Given the description of an element on the screen output the (x, y) to click on. 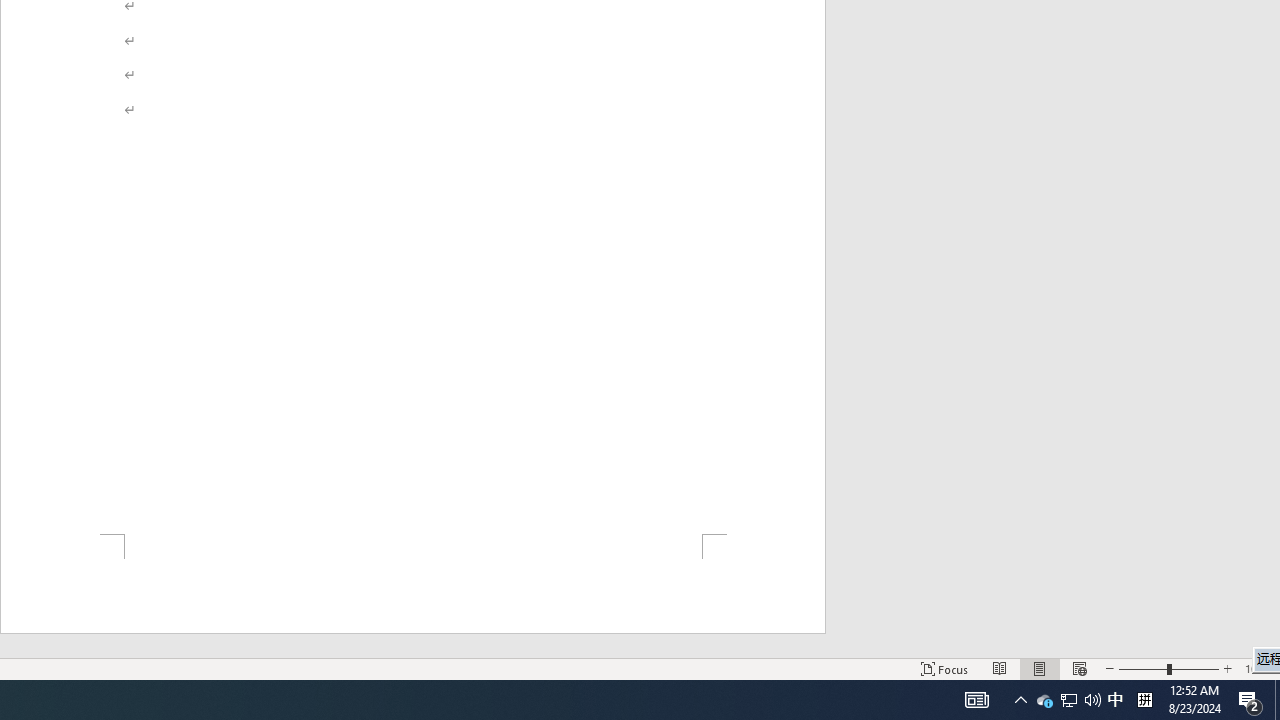
Zoom 104% (1258, 668)
